Given the description of an element on the screen output the (x, y) to click on. 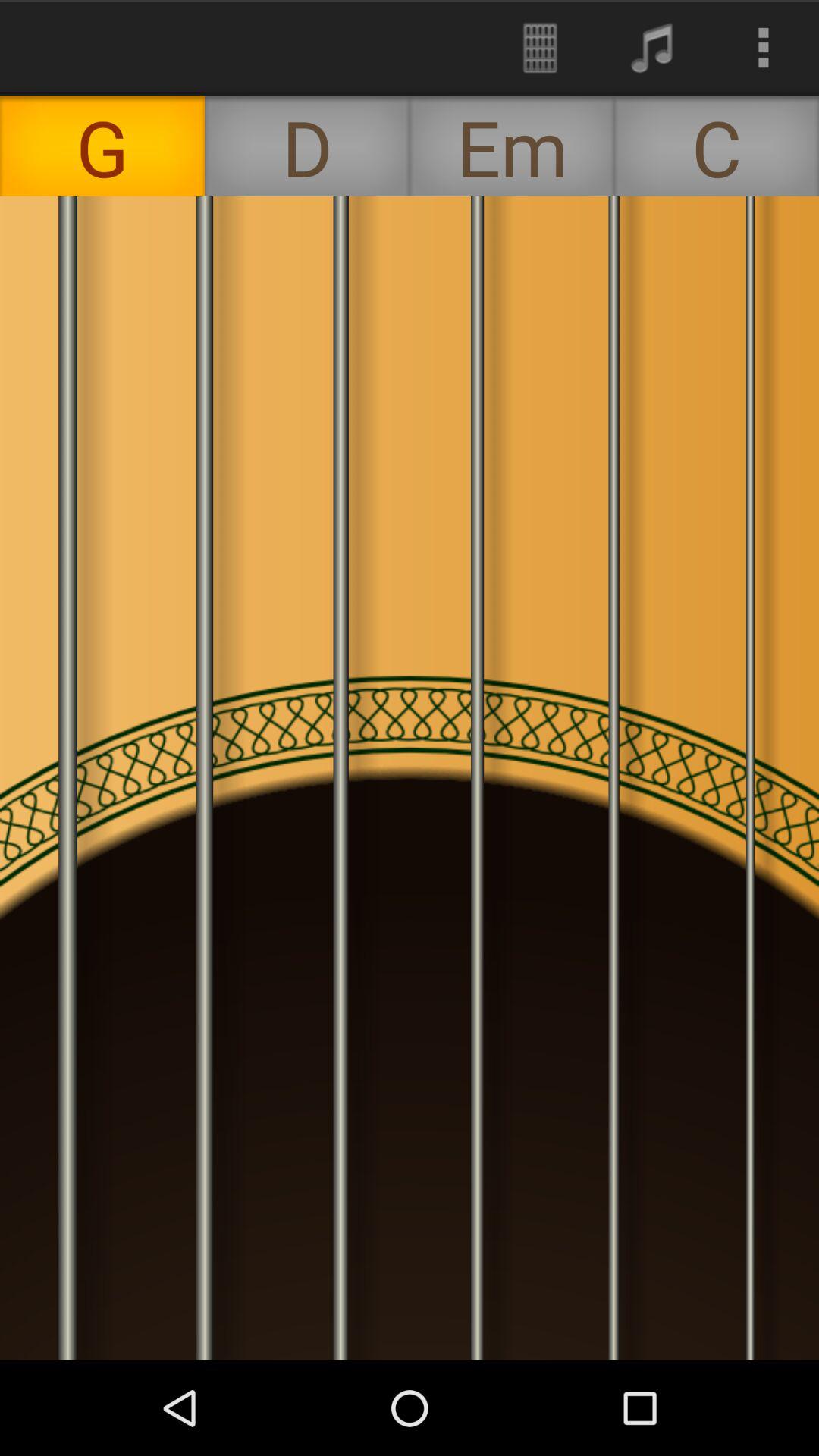
launch icon to the left of the em (306, 145)
